Given the description of an element on the screen output the (x, y) to click on. 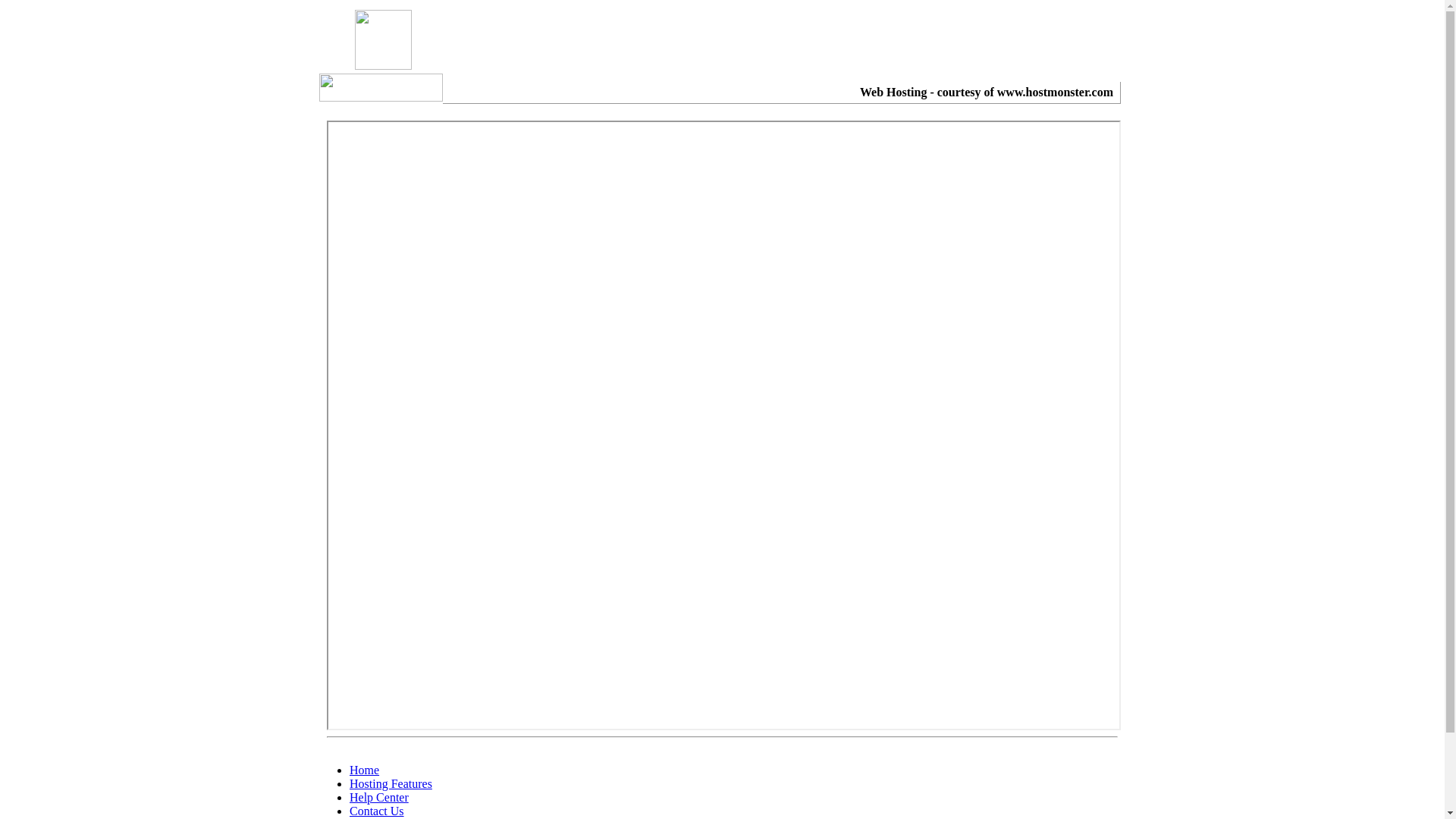
Home Element type: text (364, 769)
Contact Us Element type: text (376, 810)
Web Hosting - courtesy of www.hostmonster.com Element type: text (986, 91)
Hosting Features Element type: text (390, 783)
Help Center Element type: text (378, 796)
